Given the description of an element on the screen output the (x, y) to click on. 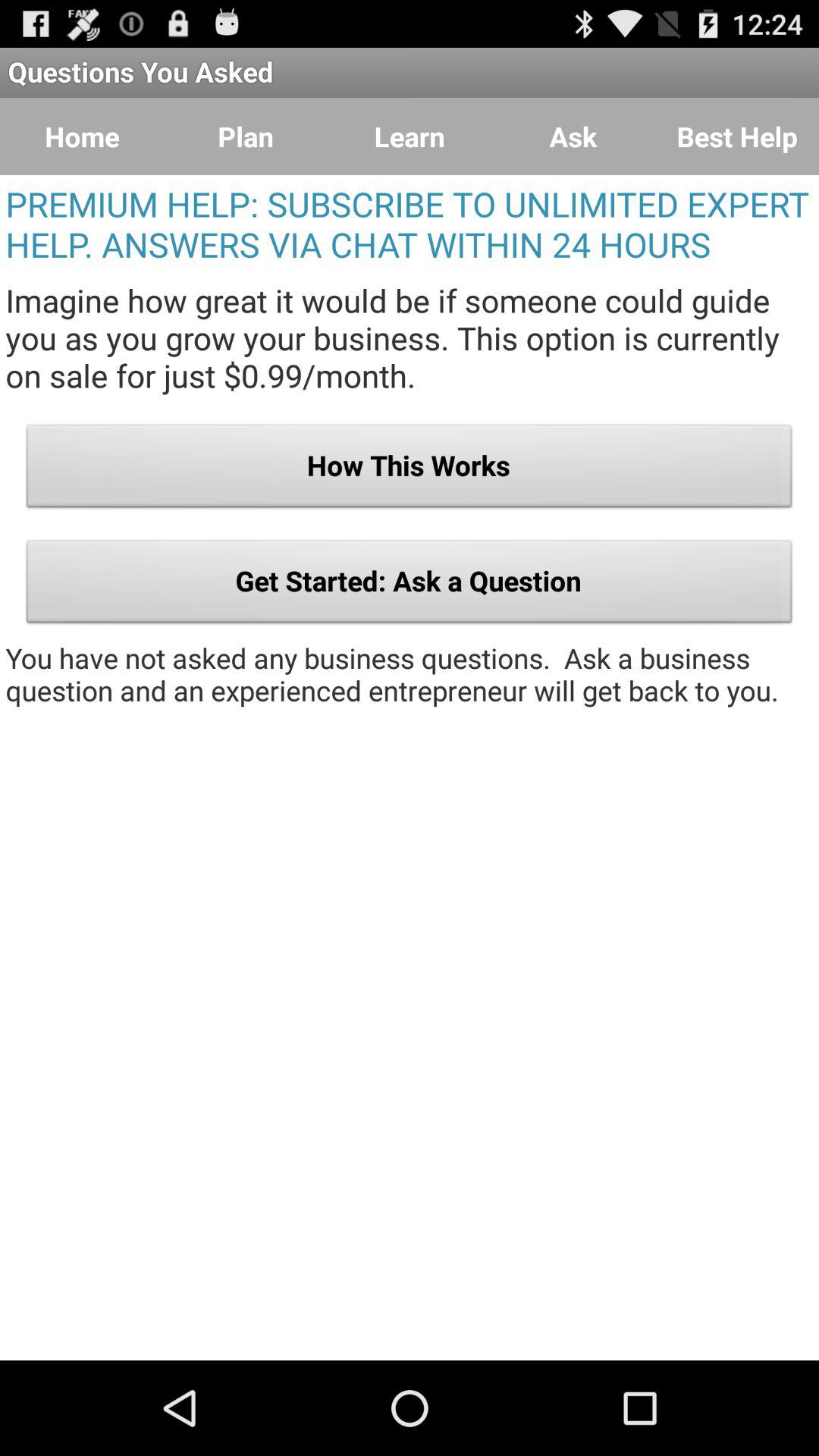
tap the item below questions you asked (245, 136)
